Given the description of an element on the screen output the (x, y) to click on. 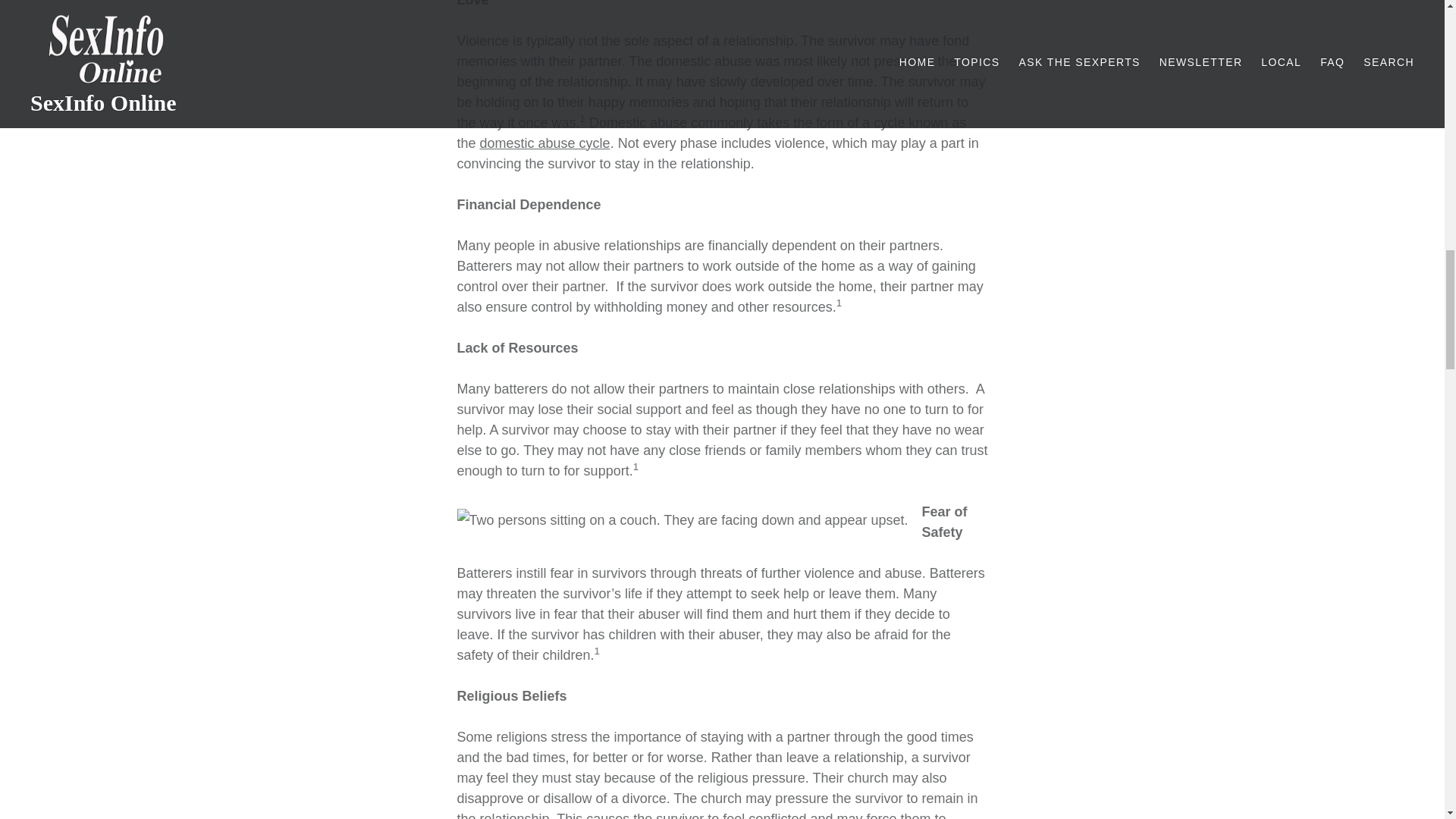
domestic abuse cycle (545, 142)
